Given the description of an element on the screen output the (x, y) to click on. 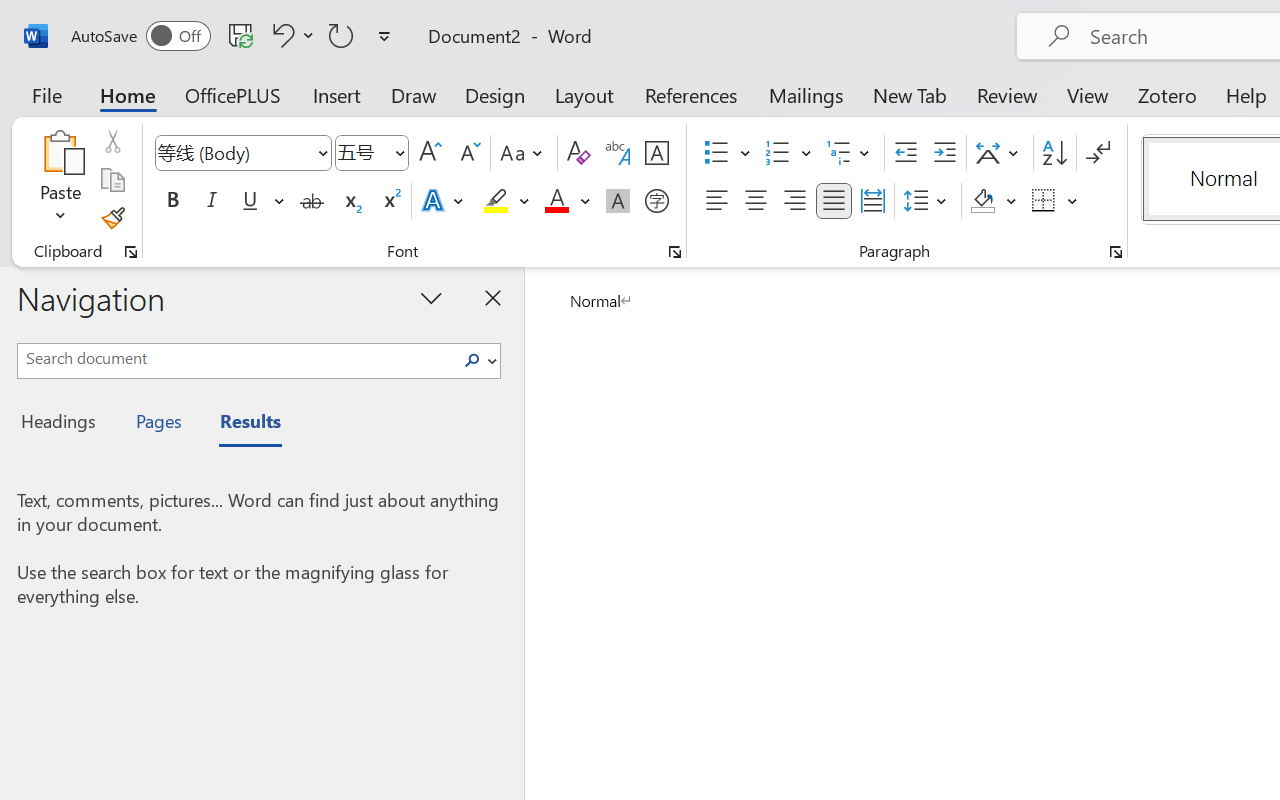
Copy (112, 179)
Change Case (524, 153)
Sort... (1054, 153)
Class: NetUIImage (471, 360)
Mailings (806, 94)
Undo Apply Quick Style (290, 35)
Pages (156, 424)
Line and Paragraph Spacing (927, 201)
Office Clipboard... (131, 252)
Customize Quick Access Toolbar (384, 35)
Text Highlight Color Yellow (495, 201)
